Given the description of an element on the screen output the (x, y) to click on. 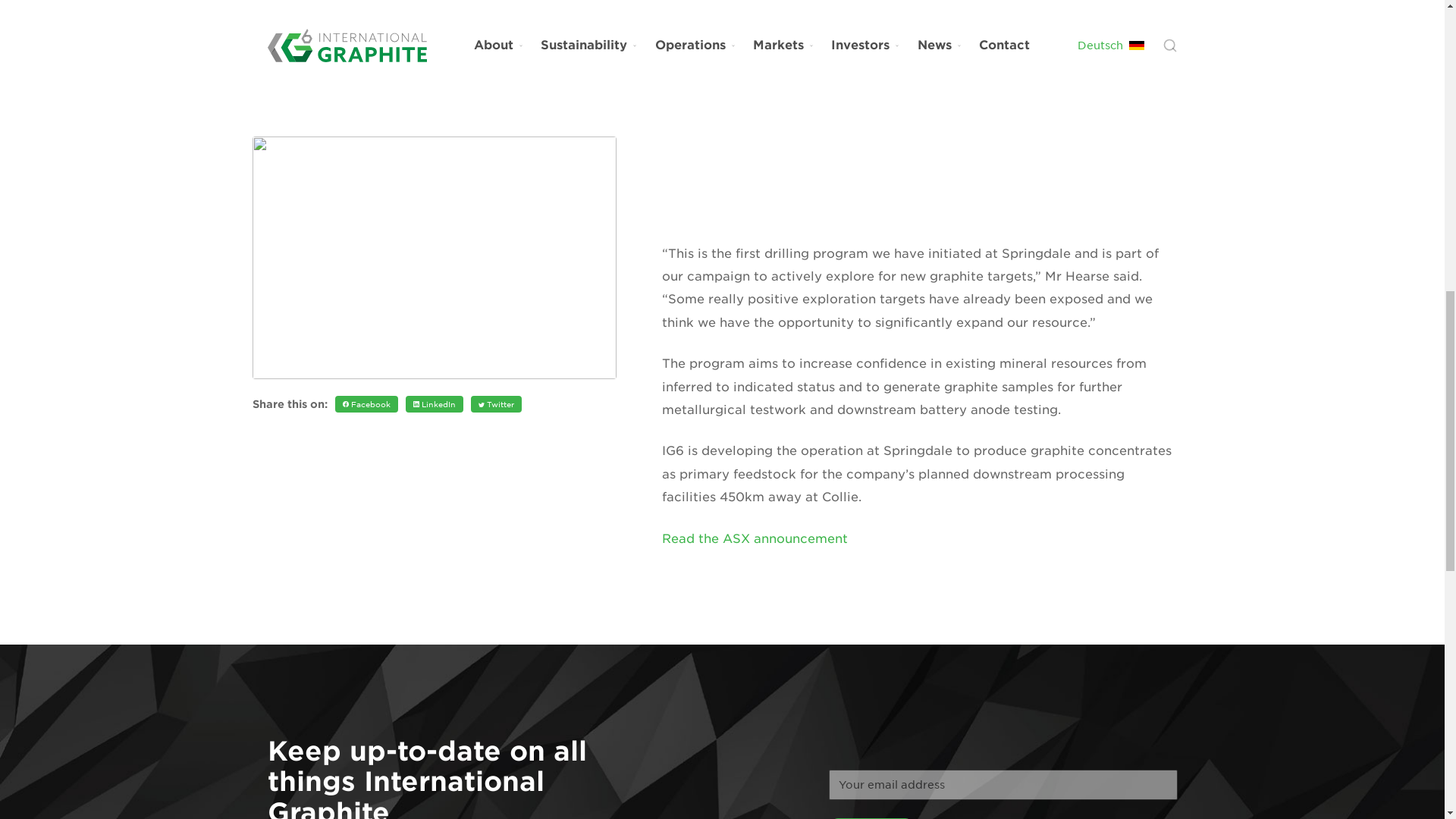
LinkedIn (433, 27)
Twitter (495, 27)
Read the ASX announcement (754, 538)
Facebook (365, 27)
